Given the description of an element on the screen output the (x, y) to click on. 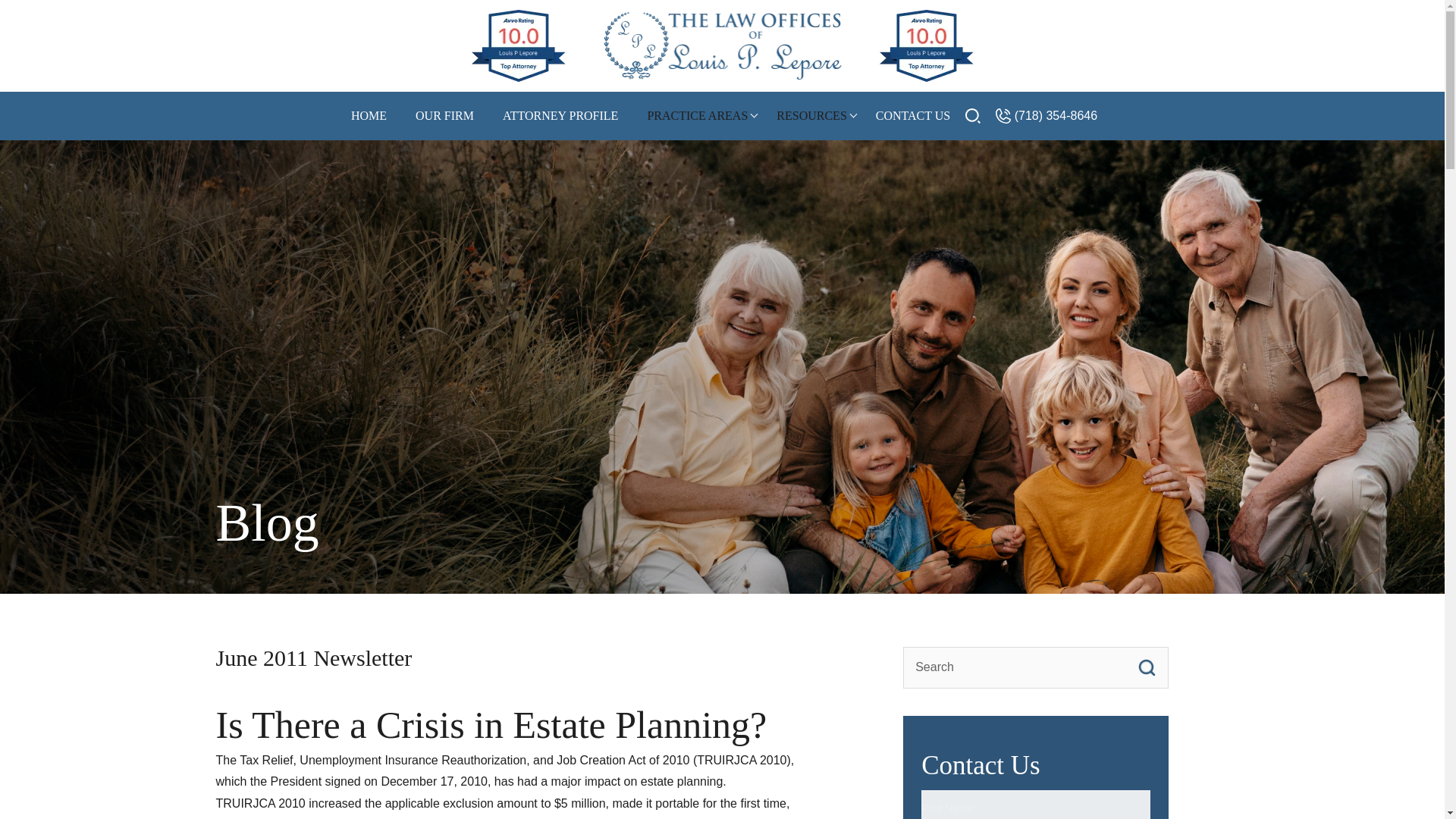
PRACTICE AREAS (697, 116)
ATTORNEY PROFILE (560, 116)
HOME (368, 116)
CONTACT US (912, 116)
RESOURCES (811, 116)
OUR FIRM (444, 116)
